Given the description of an element on the screen output the (x, y) to click on. 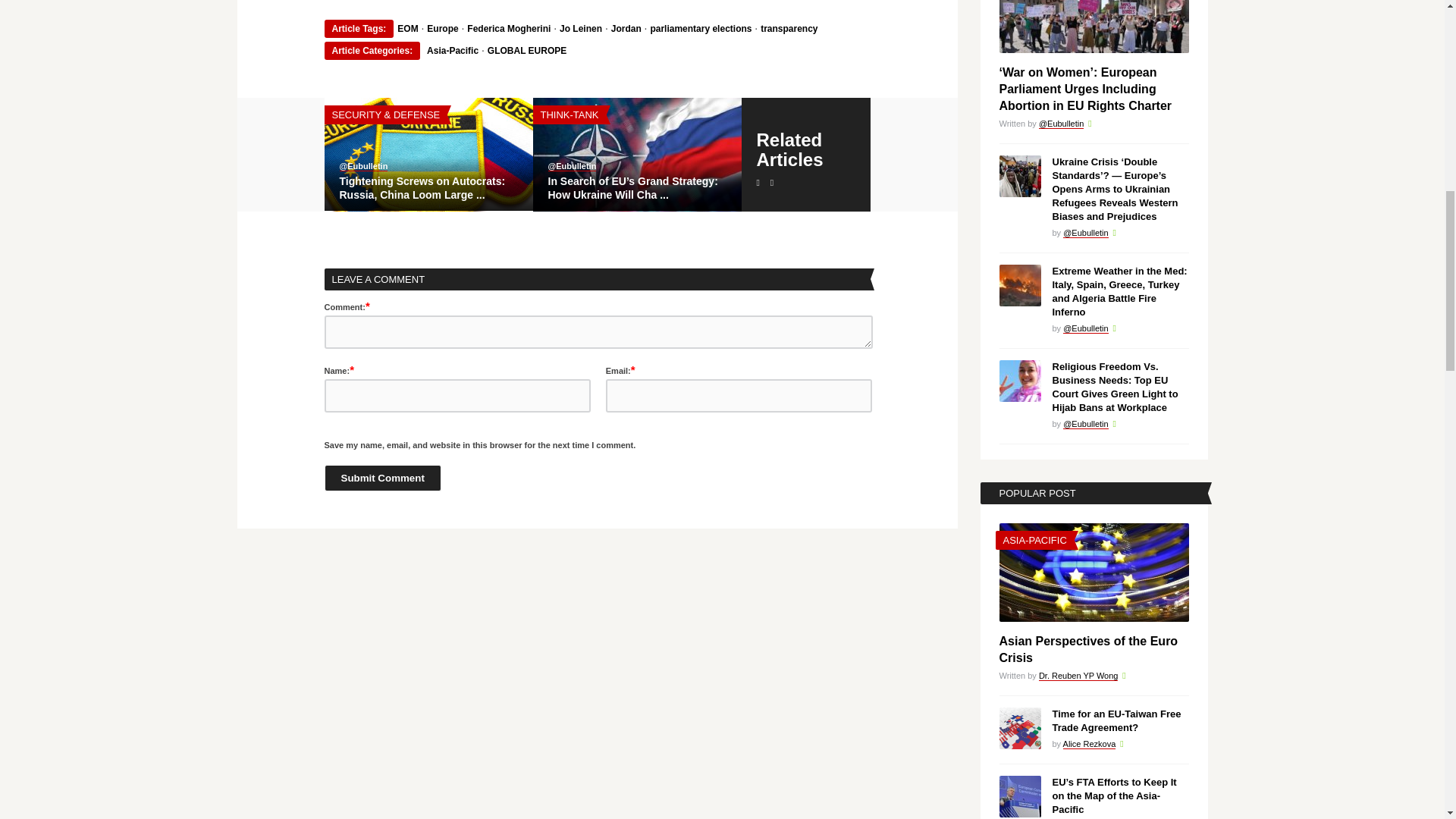
Asia-Pacific (452, 50)
transparency (788, 28)
Submit Comment (382, 478)
Europe (442, 28)
parliamentary elections (700, 28)
Federica Mogherini (508, 28)
EOM (407, 28)
View all posts in THINK-TANK (569, 114)
Jordan (626, 28)
Jo Leinen (580, 28)
